Given the description of an element on the screen output the (x, y) to click on. 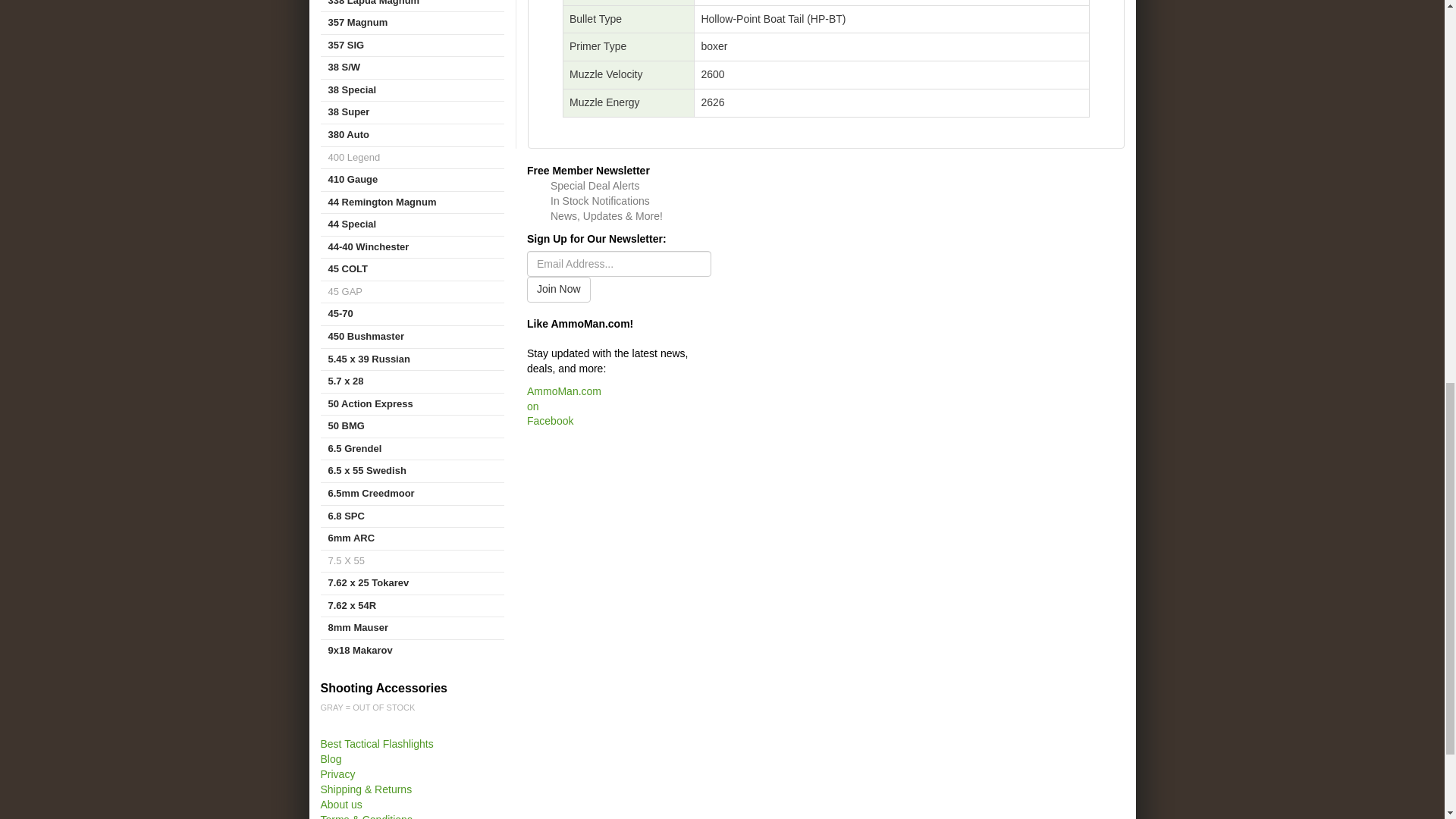
357 Magnum (411, 23)
338 Lapua Magnum (411, 6)
357 SIG (411, 45)
